Given the description of an element on the screen output the (x, y) to click on. 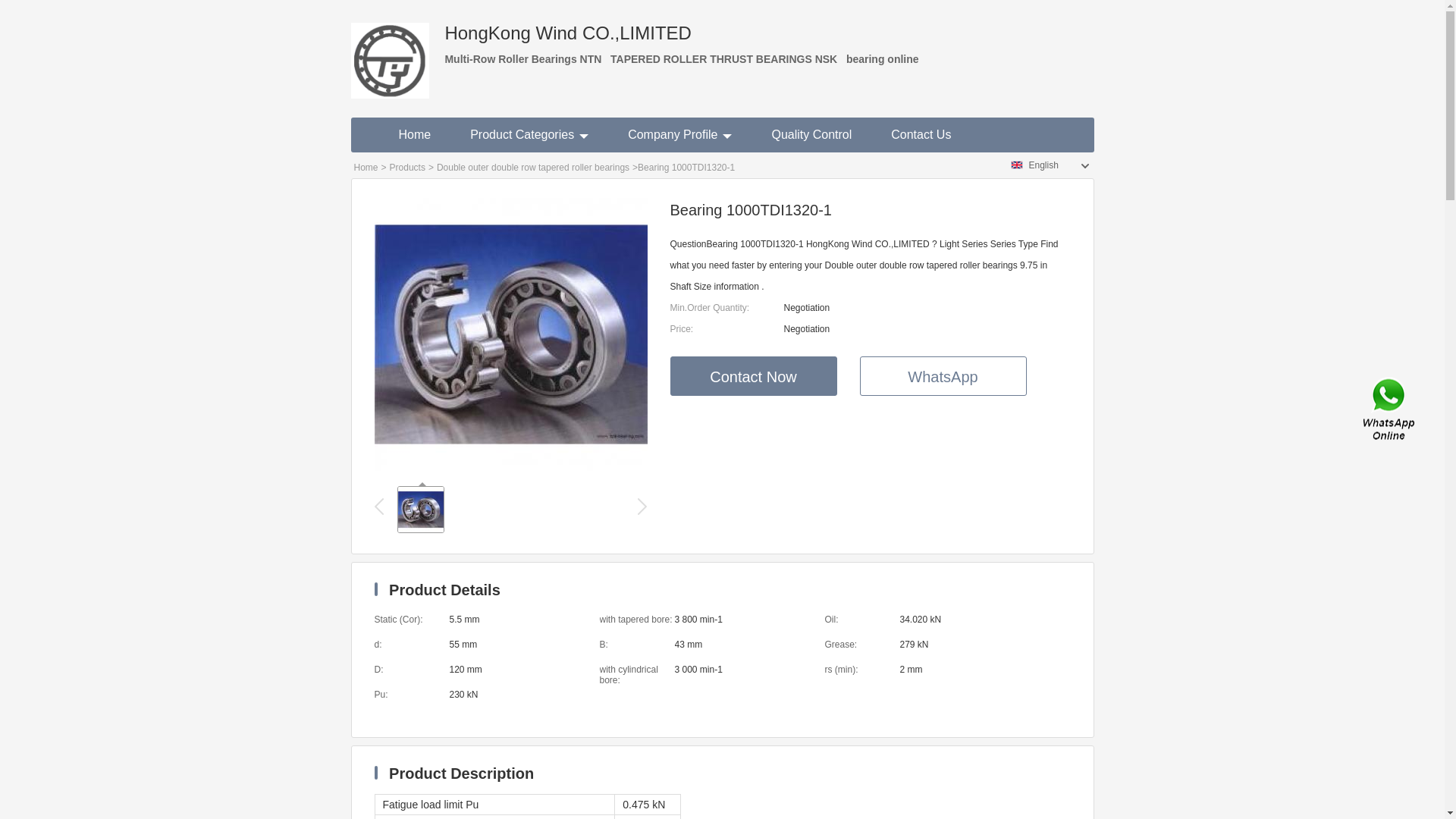
Company Profile Element type: text (679, 134)
HongKong Wind CO.,LIMITED Element type: hover (389, 49)
Product Categories Element type: text (529, 134)
Quality Control Element type: text (811, 134)
Contact Us Element type: text (920, 134)
Contact Us Element type: hover (1389, 409)
Bearing 1000TDI1320-1 image Element type: hover (510, 466)
WhatsApp Element type: text (942, 375)
Double outer double row tapered roller bearings Element type: text (532, 167)
Home Element type: text (365, 167)
Home Element type: text (415, 134)
Contact Now Element type: text (753, 375)
Products Element type: text (407, 167)
